Given the description of an element on the screen output the (x, y) to click on. 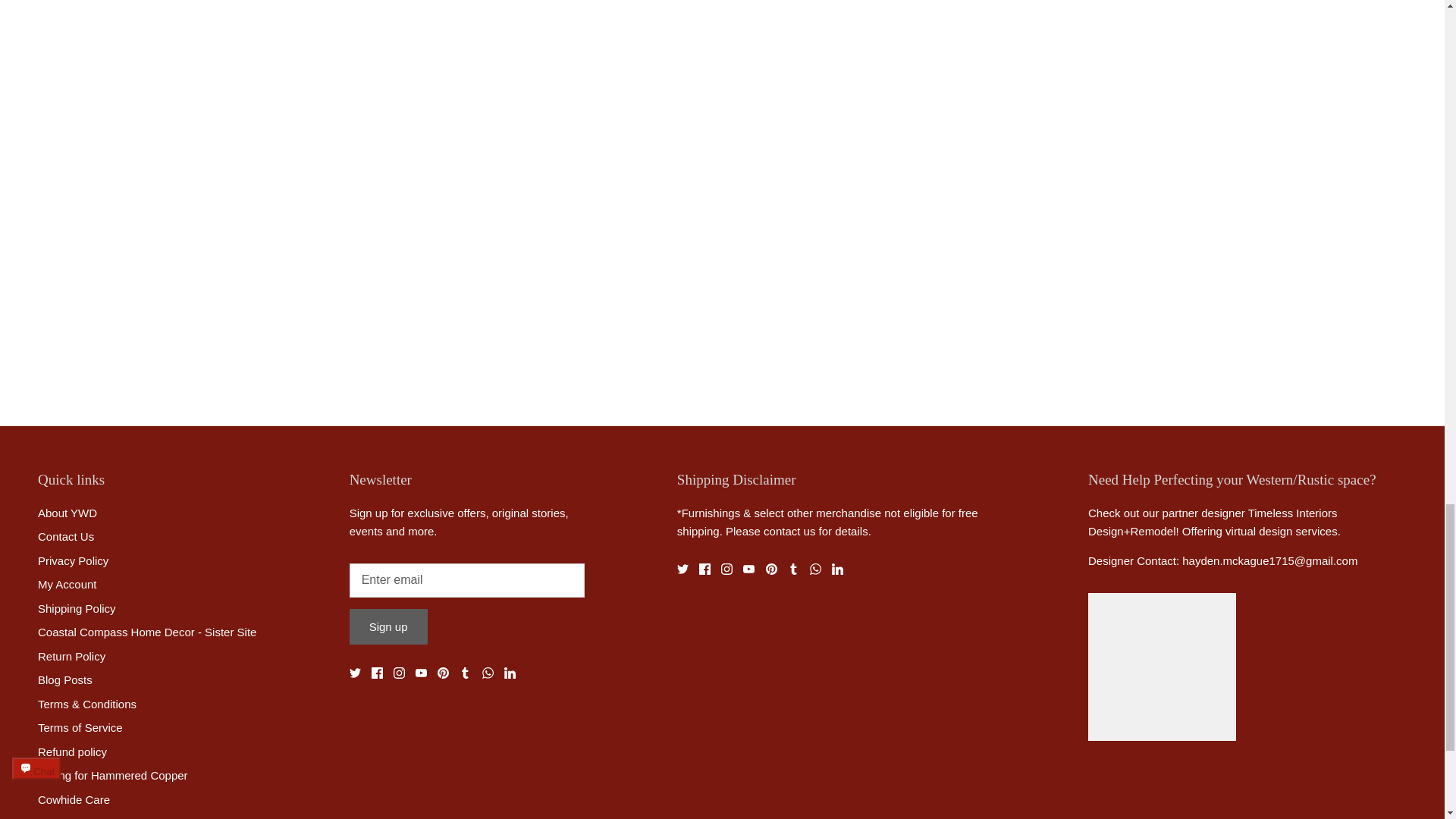
Instagram (398, 672)
Facebook (376, 672)
Twitter (355, 672)
